Given the description of an element on the screen output the (x, y) to click on. 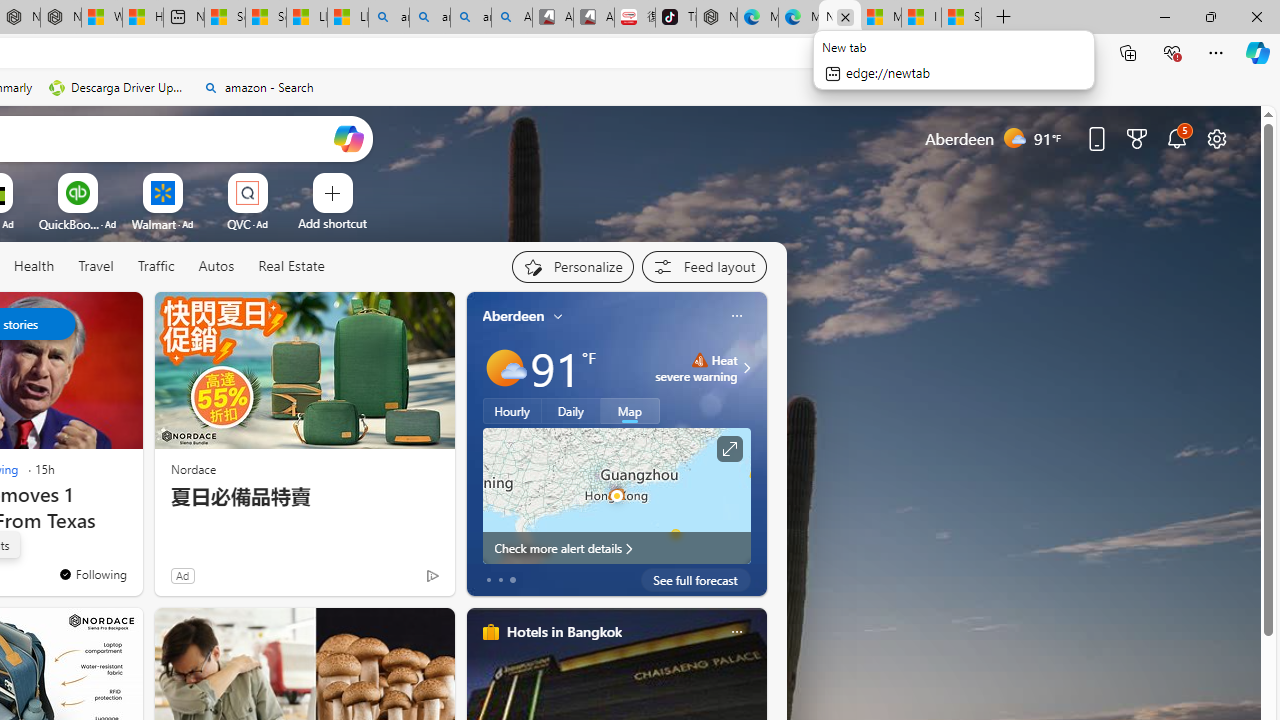
Browser essentials (1171, 52)
Amazon Echo Robot - Search Images (511, 17)
Page settings (1216, 138)
Hide this story (82, 315)
Nordace - Summer Adventures 2024 (60, 17)
See more (118, 315)
Collections (1128, 52)
Microsoft Start (881, 17)
amazon - Search (429, 17)
Personalize your feed" (571, 266)
Heat - Severe Heat severe warning (696, 367)
Travel (95, 265)
Health (34, 265)
